Given the description of an element on the screen output the (x, y) to click on. 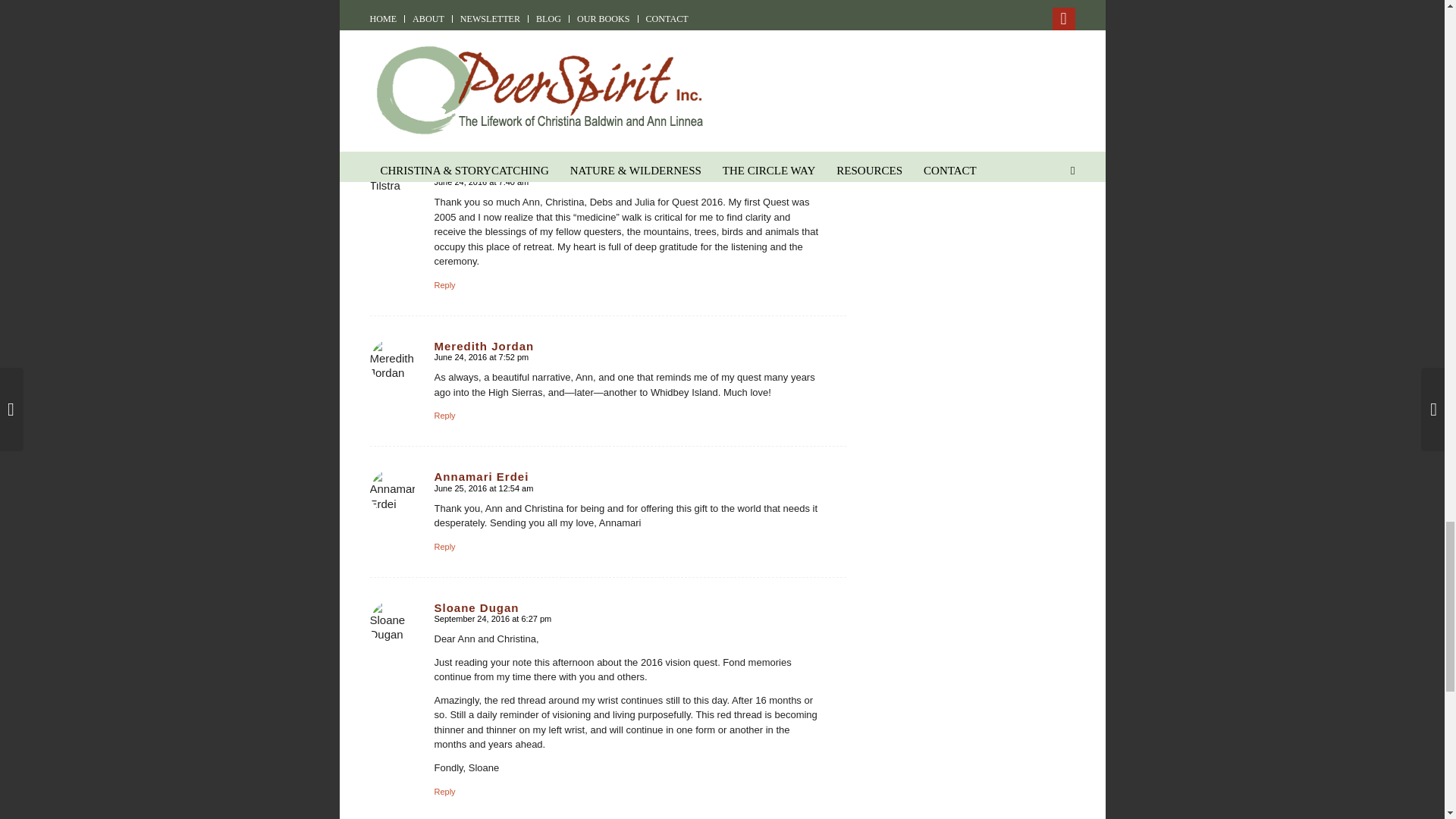
September 24, 2016 at 6:27 pm (492, 618)
June 24, 2016 at 7:40 am (480, 181)
Reply (443, 415)
June 25, 2016 at 12:54 am (482, 488)
June 24, 2016 at 7:52 pm (480, 356)
Reply (443, 546)
Reply (443, 791)
Reply (443, 284)
